Given the description of an element on the screen output the (x, y) to click on. 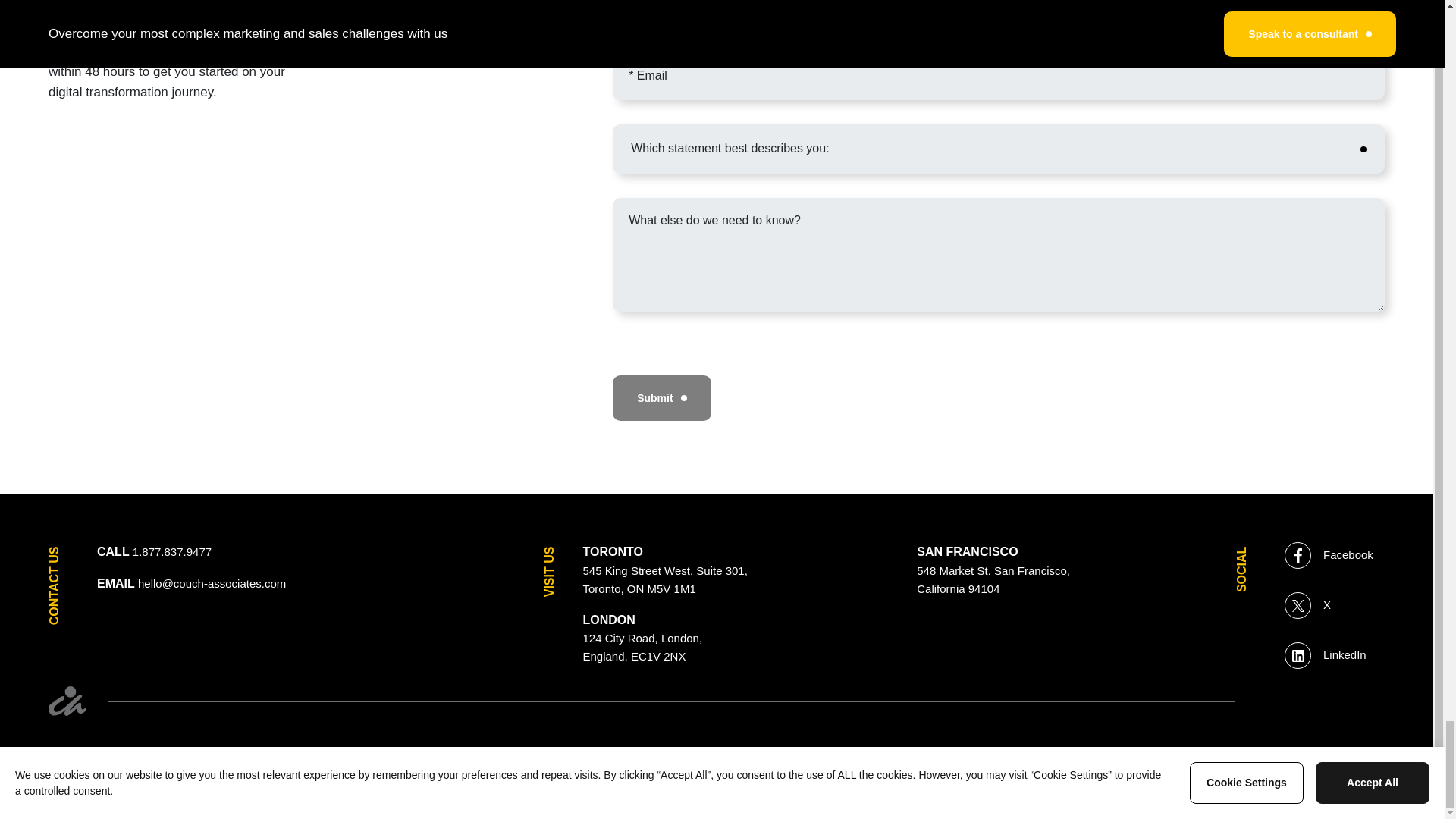
LinkedIn (1325, 655)
1.877.837.9477 (171, 551)
Submit (661, 397)
Next (1425, 809)
Previous (664, 579)
Facebook (10, 809)
X (1328, 555)
Please wait until Google reCAPTCHA is loaded. (993, 579)
